Given the description of an element on the screen output the (x, y) to click on. 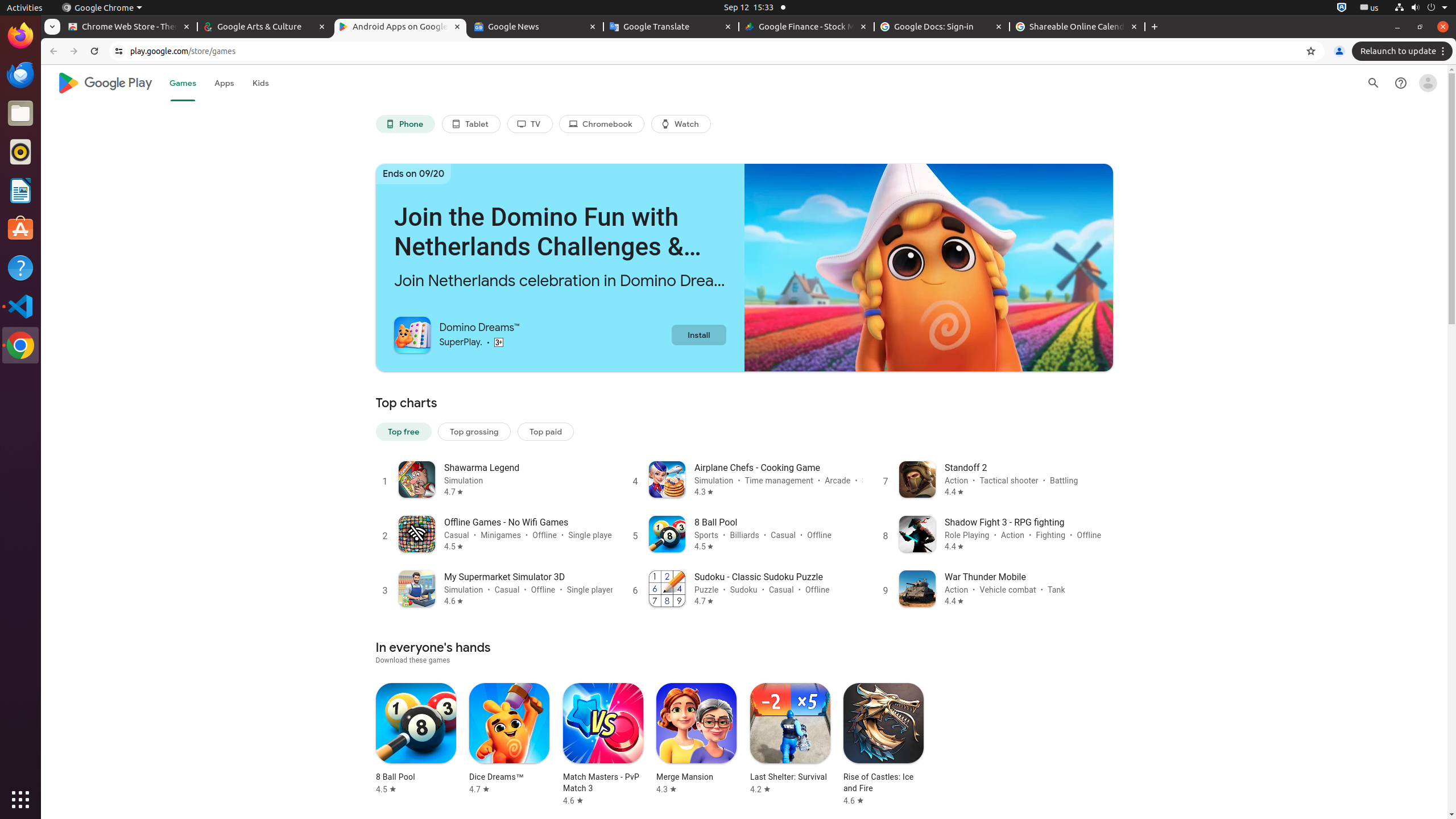
Ubuntu Software Element type: push-button (20, 229)
You Element type: push-button (1339, 50)
Rank 8 Shadow Fight 3 - RPG fighting Role Playing • Action • Fighting • Offline Rated 4.4 stars out of five stars Element type: link (994, 533)
Visual Studio Code Element type: push-button (20, 306)
:1.21/StatusNotifierItem Element type: menu (1369, 7)
